Given the description of an element on the screen output the (x, y) to click on. 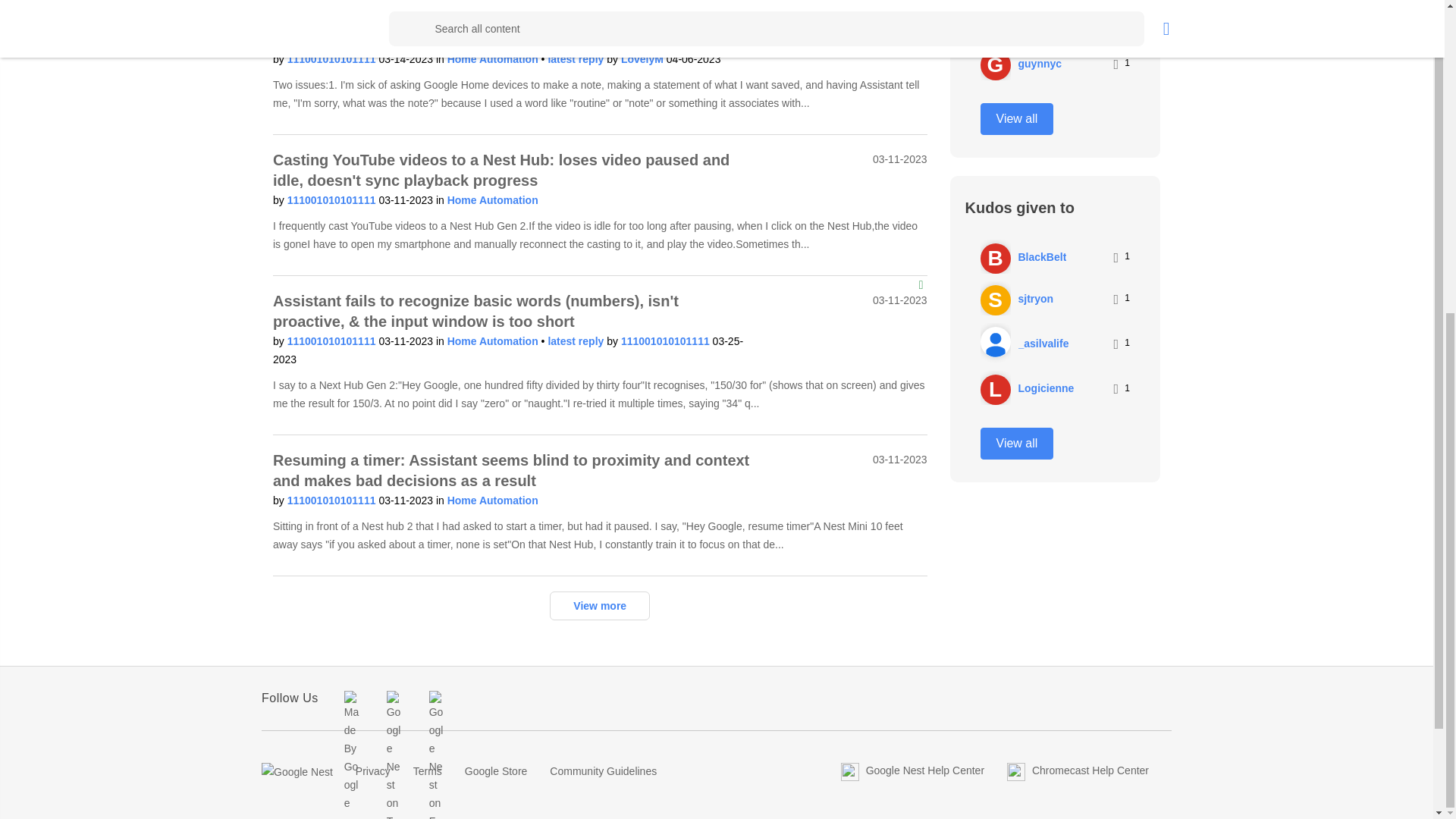
111001010101111 (332, 59)
111001010101111 (332, 340)
latest reply (577, 59)
Home Automation (492, 200)
111001010101111 (332, 200)
LovelyM (643, 59)
Home Automation (493, 59)
